Given the description of an element on the screen output the (x, y) to click on. 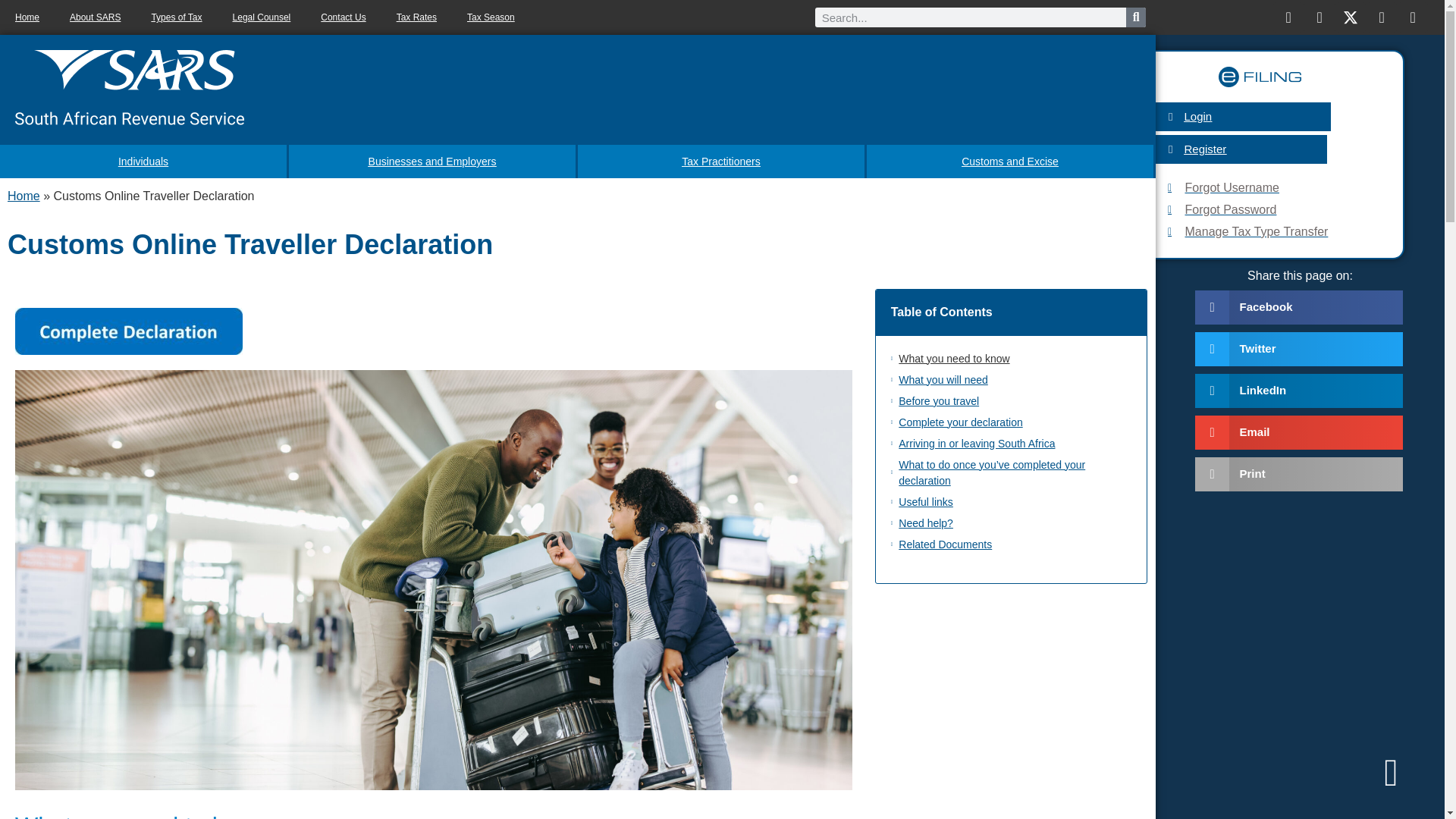
Tax Season (490, 17)
About SARS (95, 17)
Home (23, 195)
Tax Rates (416, 17)
Legal Counsel (260, 17)
Home (27, 17)
Tax Practitioners (722, 161)
Types of Tax (175, 17)
Businesses and Employers (433, 161)
Customs and Excise (1011, 161)
Individuals (144, 161)
Contact Us (342, 17)
